Given the description of an element on the screen output the (x, y) to click on. 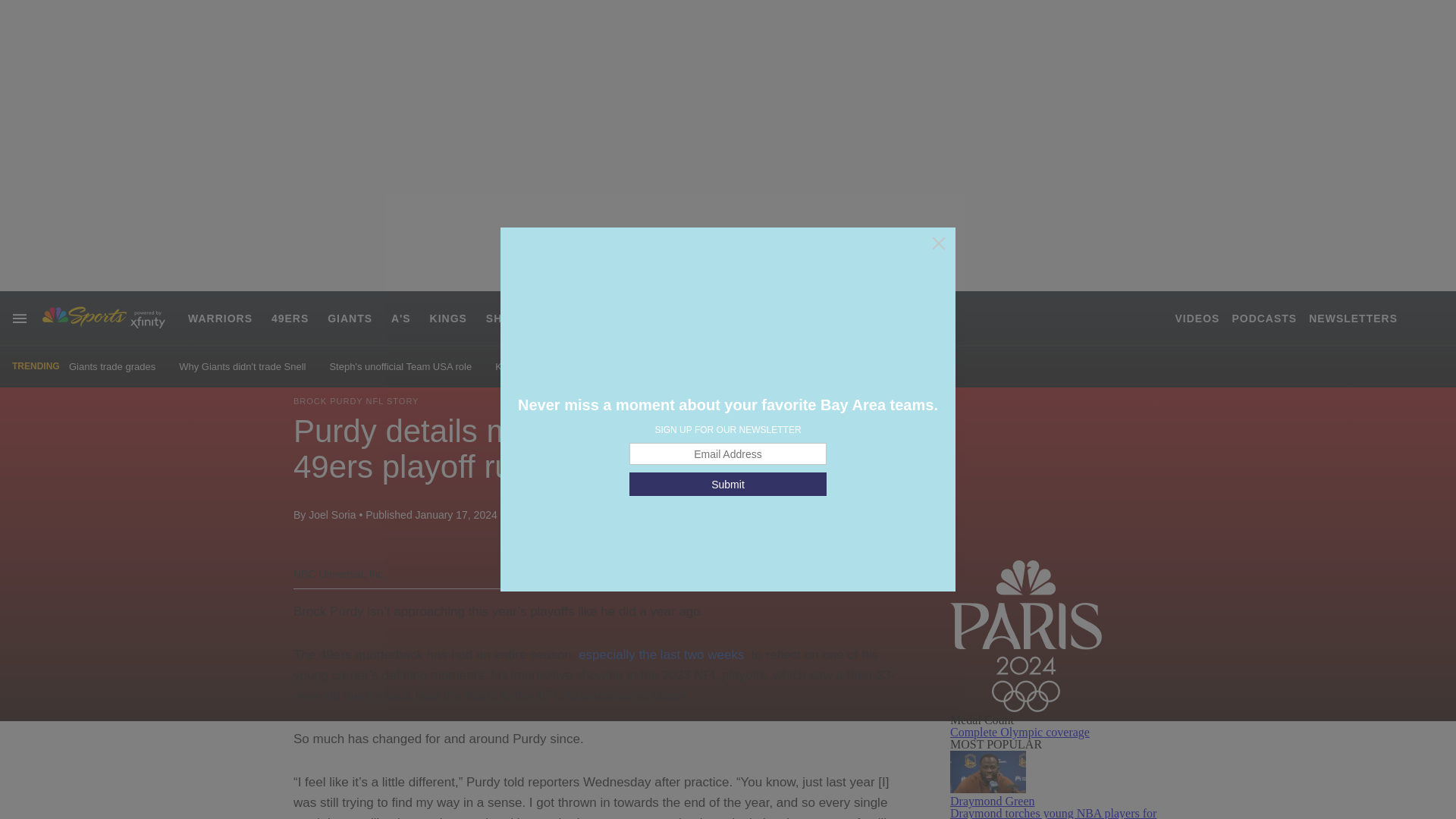
49ERS (289, 318)
Mixed bag for Purdy in 49ers drills (715, 366)
BROCK PURDY NFL STORY (356, 401)
Steph's unofficial Team USA role (400, 366)
SHARKS (510, 318)
VIDEOS (1197, 318)
KD claps back at Keyshawn (556, 366)
A'S (400, 318)
GIANTS (349, 318)
KINGS (448, 318)
Why Giants didn't trade Snell (242, 366)
WARRIORS (219, 318)
NEWSLETTERS (1352, 318)
Joel Soria (331, 514)
especially the last two weeks (661, 654)
